Given the description of an element on the screen output the (x, y) to click on. 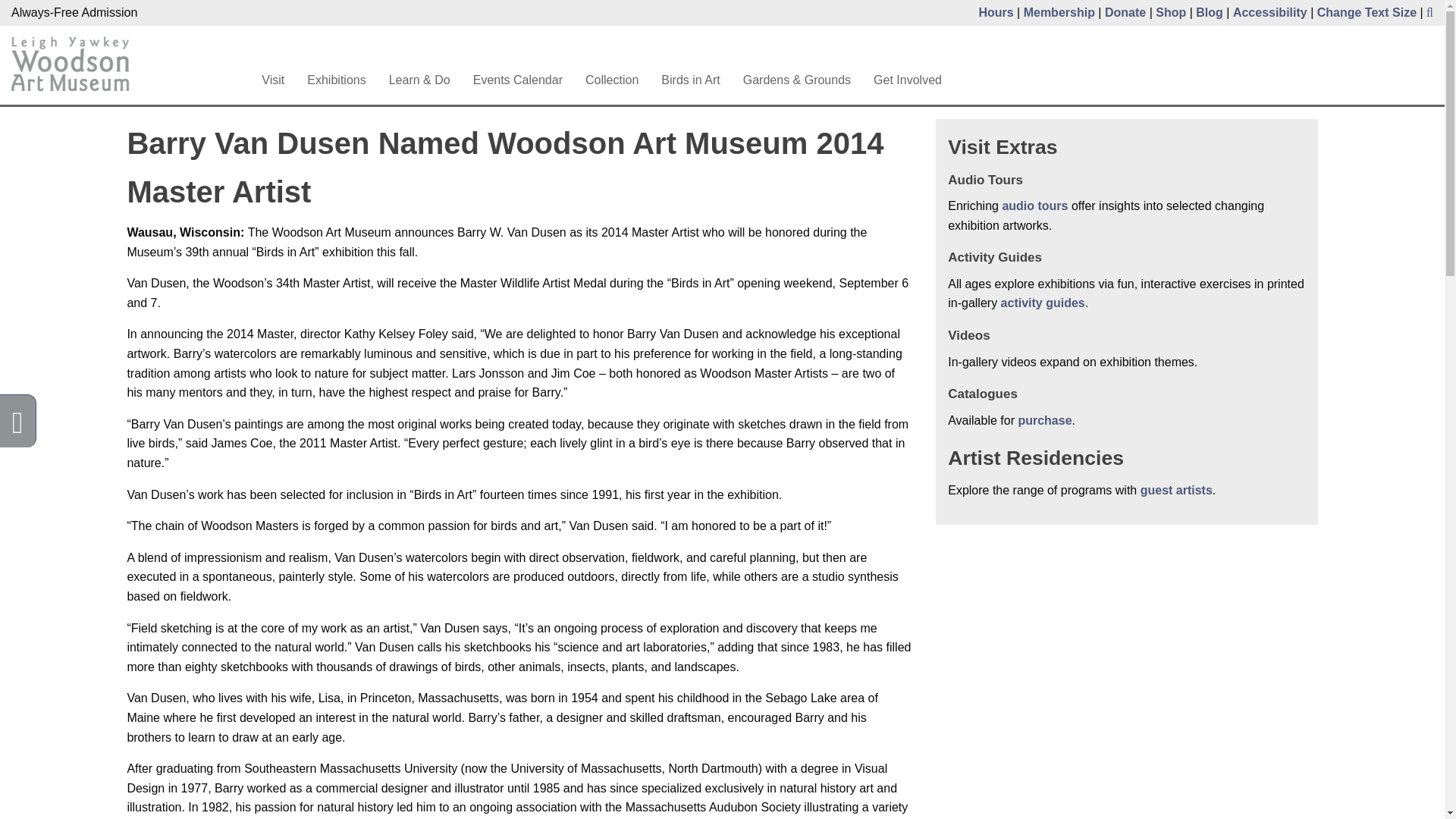
Shop (1171, 11)
Blog (1209, 11)
Donate (1125, 11)
Membership (1058, 11)
Go (926, 50)
Exhibitions (336, 80)
Change Text Size (1366, 11)
Hours (995, 11)
Accessibility (1270, 11)
